Given the description of an element on the screen output the (x, y) to click on. 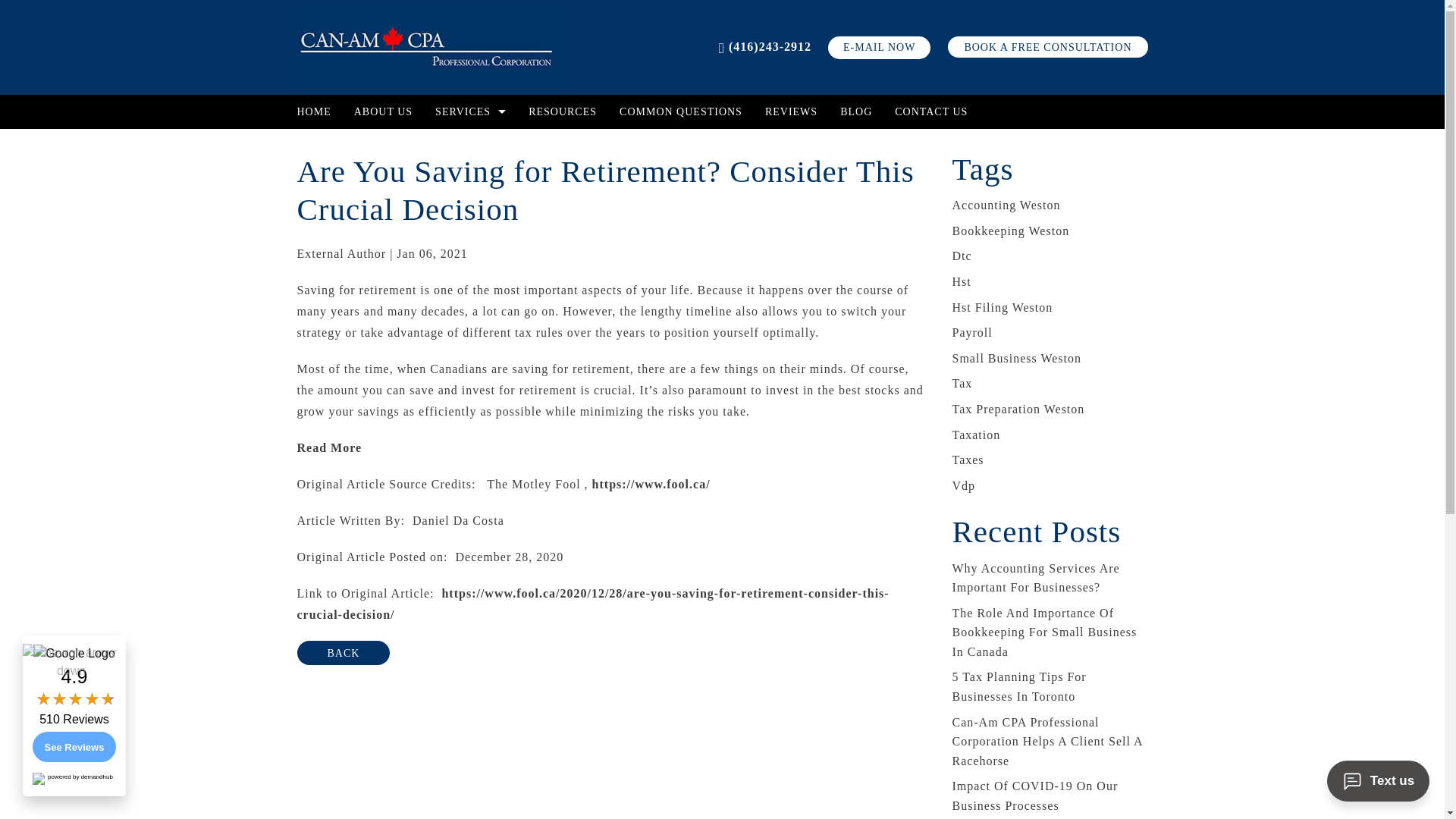
Tax (962, 382)
RESOURCES (562, 111)
Small Business Weston (1016, 358)
ABOUT US (382, 111)
Why Accounting Services Are Important For Businesses? (1035, 577)
Hst Filing Weston (1002, 307)
E-MAIL NOW (879, 47)
REVIEWS (791, 111)
BOOK A FREE CONSULTATION (1047, 46)
Hst (961, 281)
CONTACT US (925, 111)
Tax Preparation Weston (1018, 408)
Taxes (968, 459)
HOME (319, 111)
Accounting Weston (1006, 205)
